Given the description of an element on the screen output the (x, y) to click on. 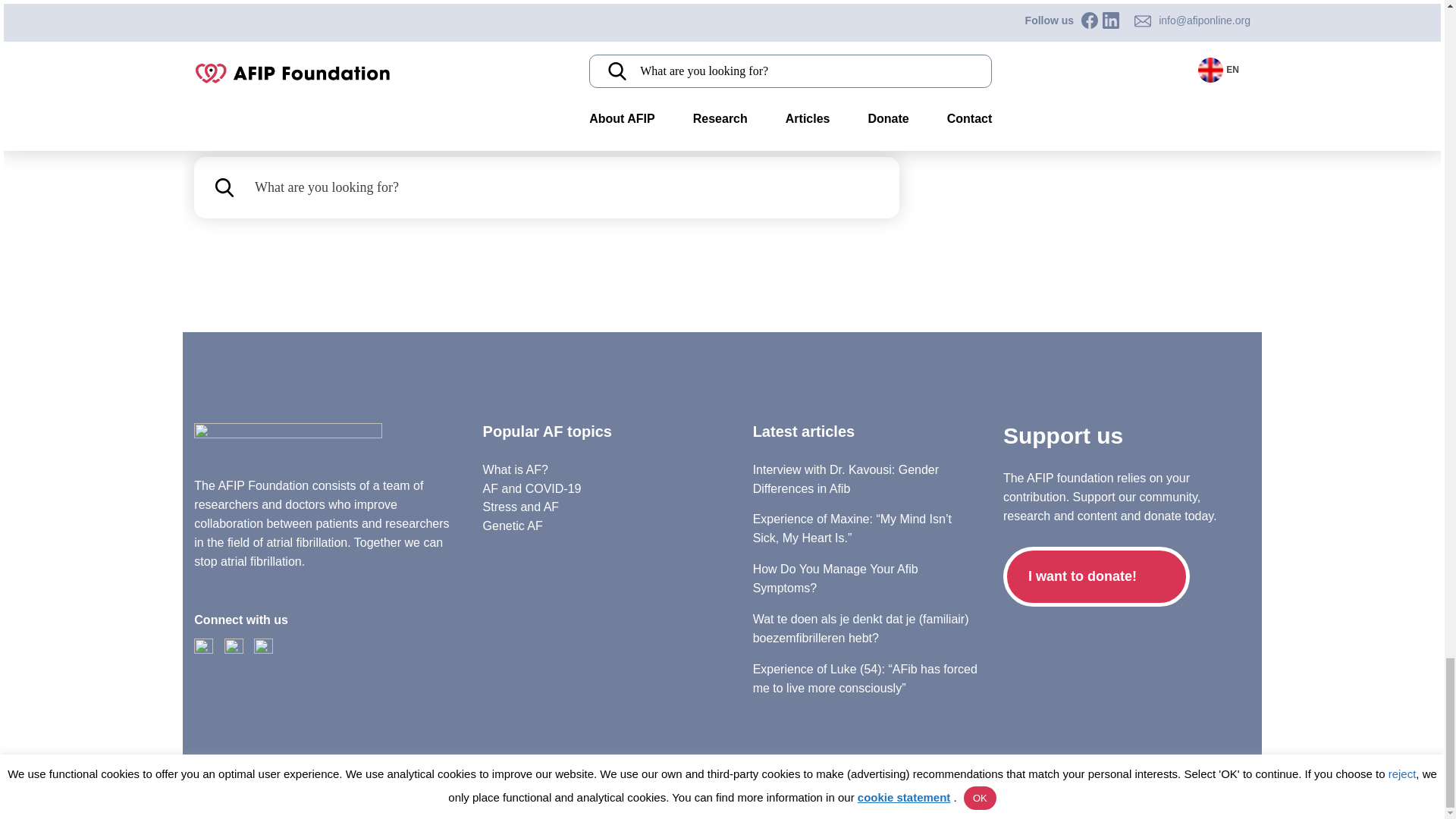
icon-linkedin-white (202, 647)
icon-facebook-white (233, 647)
icon-instagram-white (263, 647)
Donate (1096, 576)
AFIP-Logo-White (287, 443)
